Given the description of an element on the screen output the (x, y) to click on. 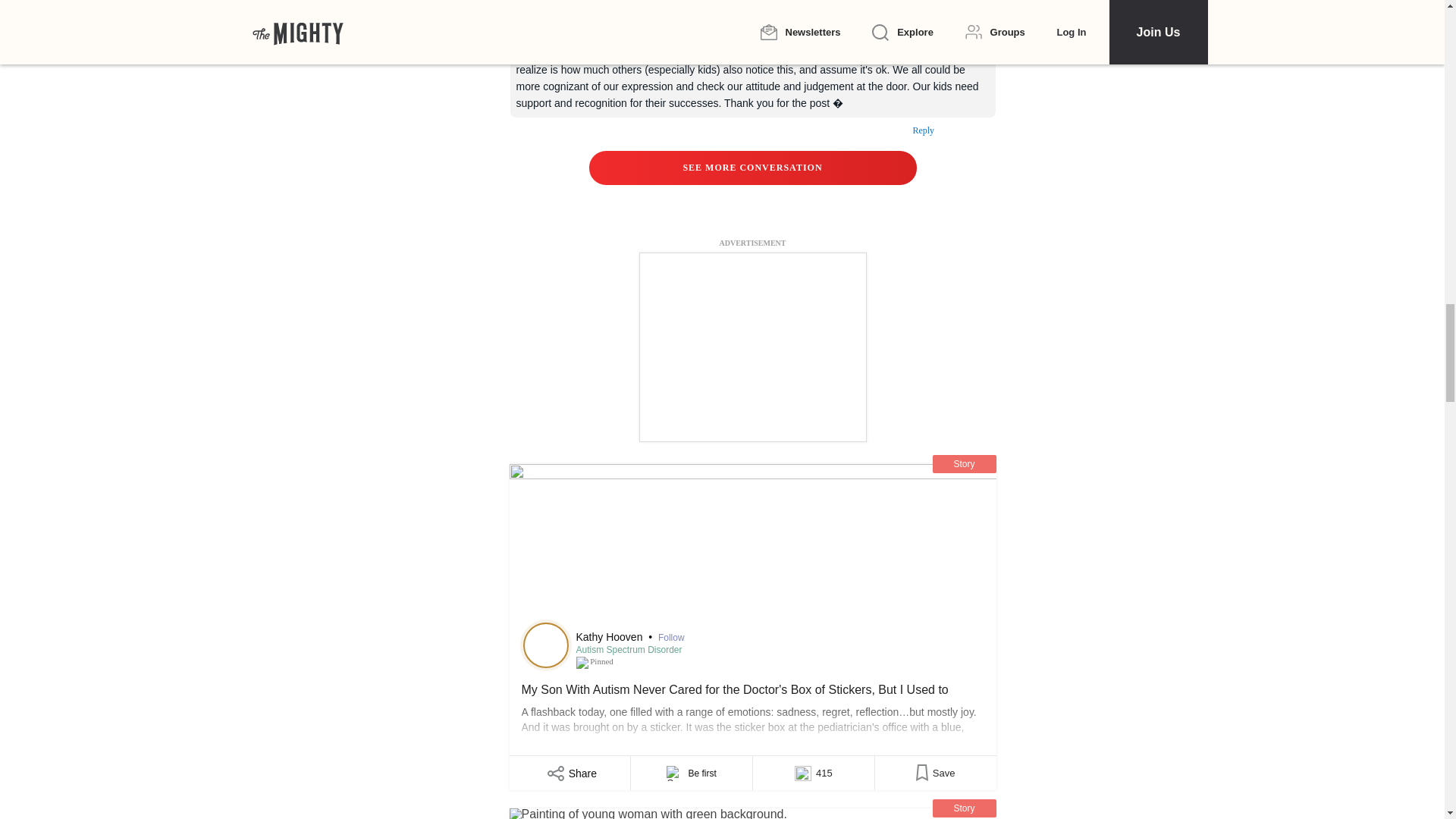
View their profile (578, 4)
Visit Kathy Hooven's profile (545, 645)
View their profile (526, 7)
